Given the description of an element on the screen output the (x, y) to click on. 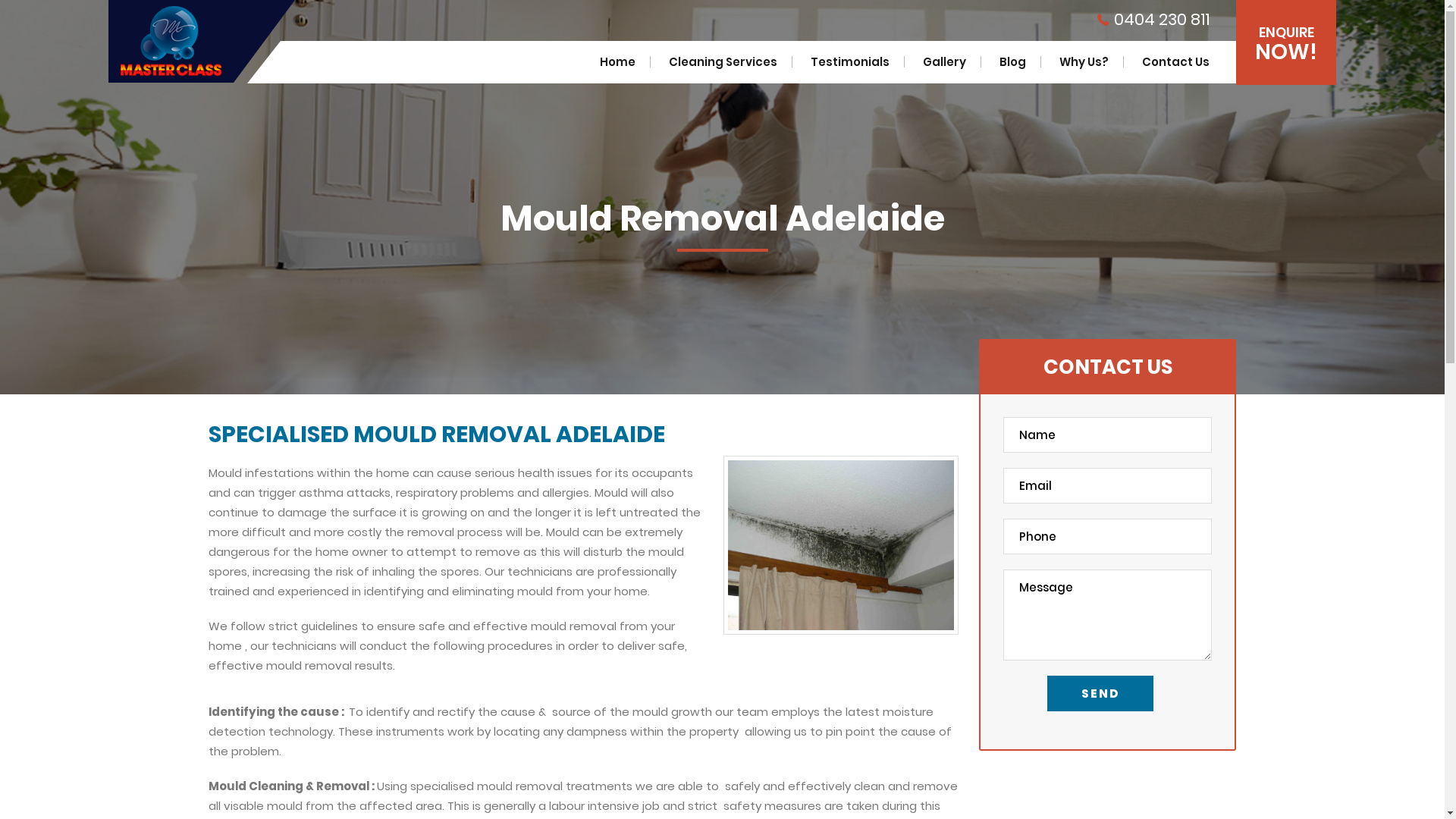
Why Us? Element type: text (1083, 61)
Blog Element type: text (1012, 61)
Contact Us Element type: text (1175, 61)
Testimonials Element type: text (849, 61)
Cleaning Services Element type: text (722, 61)
Carpet Cleaning Adelaide Element type: text (170, 41)
Specialised Mould Removal Adelaide Element type: hover (840, 544)
Send Element type: text (1100, 693)
0404 230 811 Element type: text (1153, 19)
Home Element type: text (617, 61)
Gallery Element type: text (944, 61)
